Given the description of an element on the screen output the (x, y) to click on. 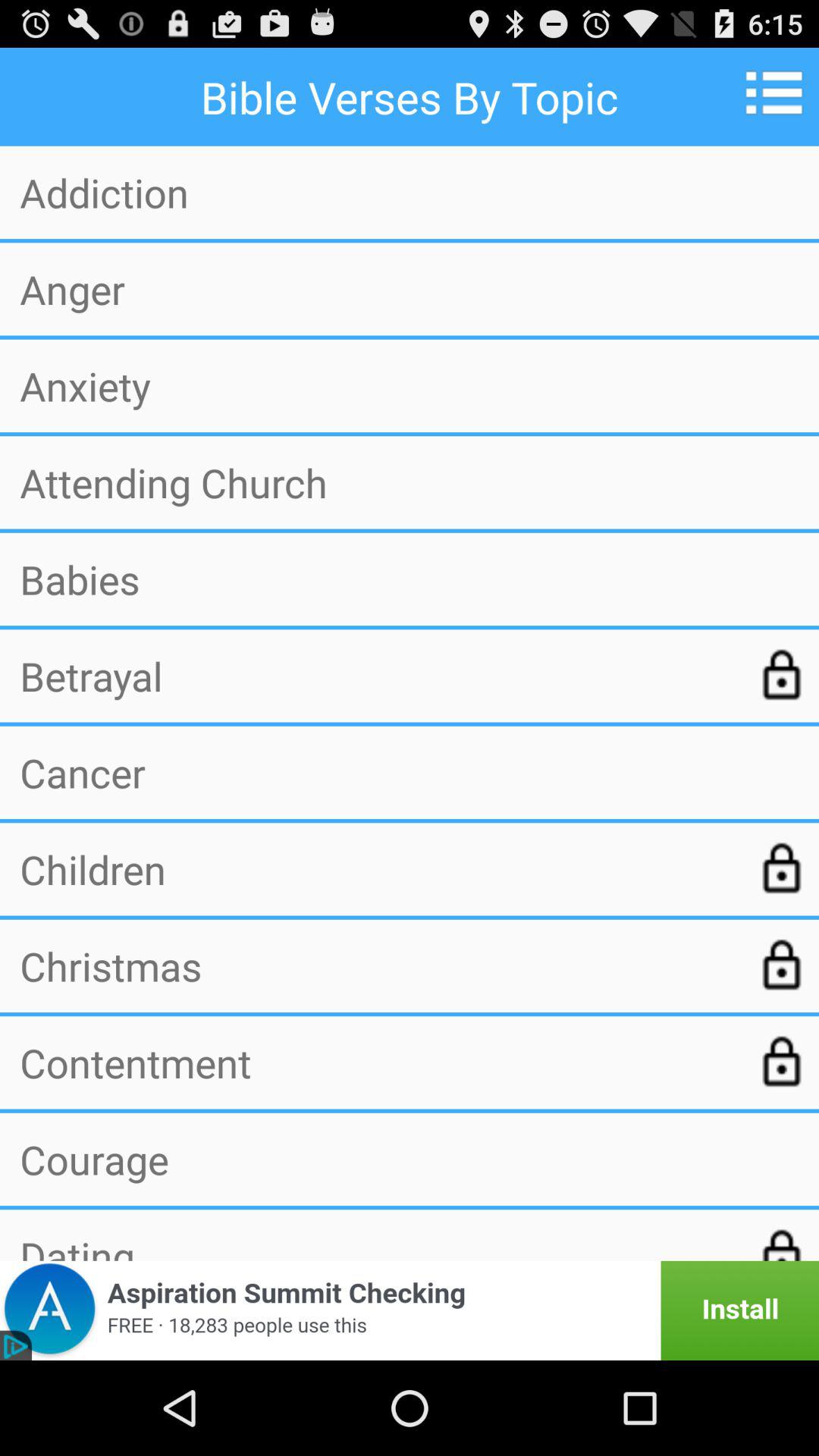
tap the icon below attending church icon (409, 578)
